Given the description of an element on the screen output the (x, y) to click on. 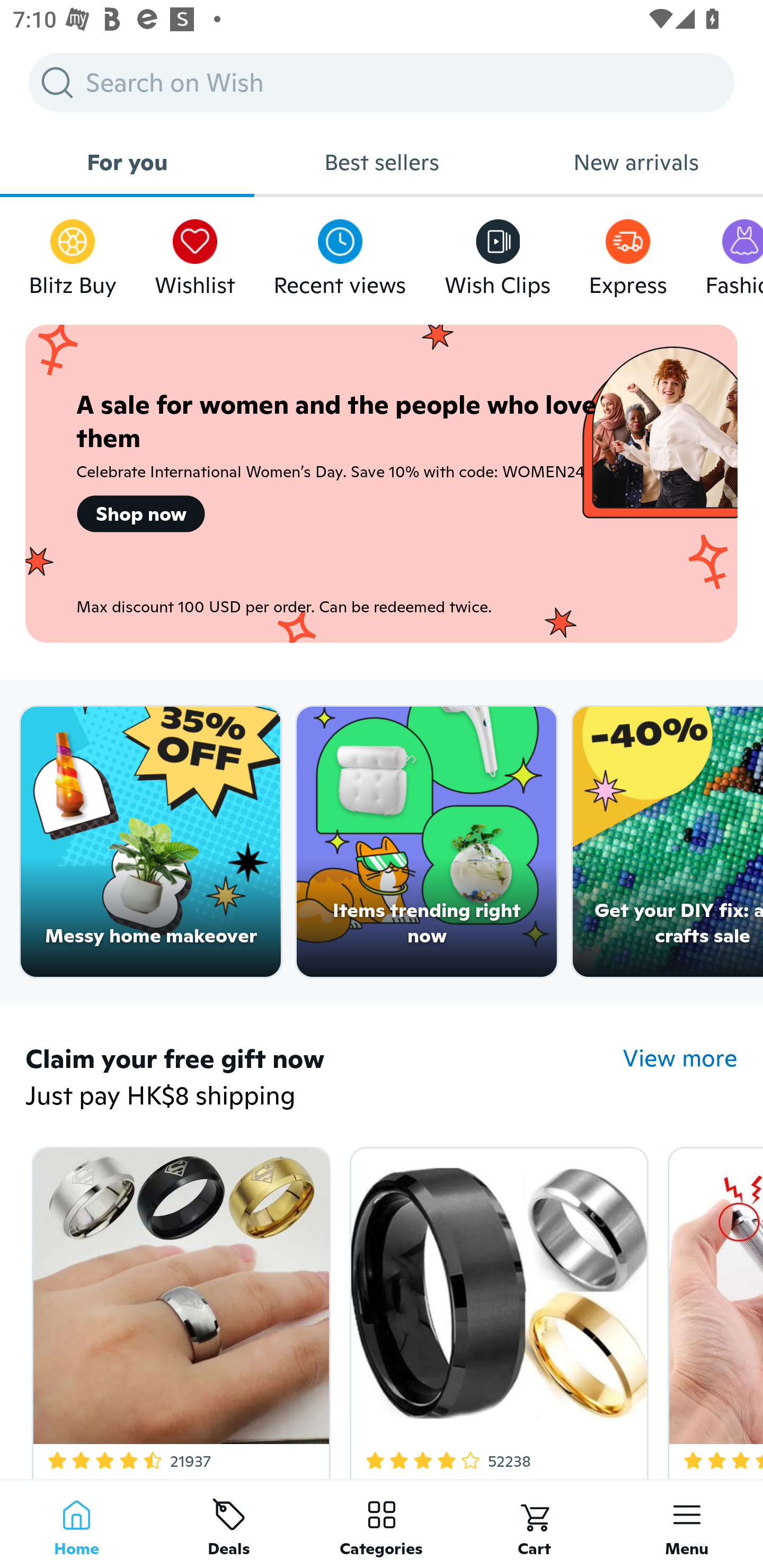
Search on Wish (381, 82)
For you (127, 161)
Best sellers (381, 161)
New arrivals (635, 161)
Blitz Buy (72, 252)
Wishlist (194, 252)
Recent views (339, 252)
Wish Clips (497, 252)
Express (627, 252)
Fashion (734, 252)
Messy home makeover (150, 841)
Items trending right now (426, 841)
Get your DIY fix: arts & crafts sale (668, 841)
Claim your free gift now
Just pay HK$8 shipping (323, 1078)
View more (679, 1058)
4.3 Star Rating 21937 Free (177, 1308)
4.2 Star Rating 52238 Free (495, 1308)
Home (76, 1523)
Deals (228, 1523)
Categories (381, 1523)
Cart (533, 1523)
Menu (686, 1523)
